Given the description of an element on the screen output the (x, y) to click on. 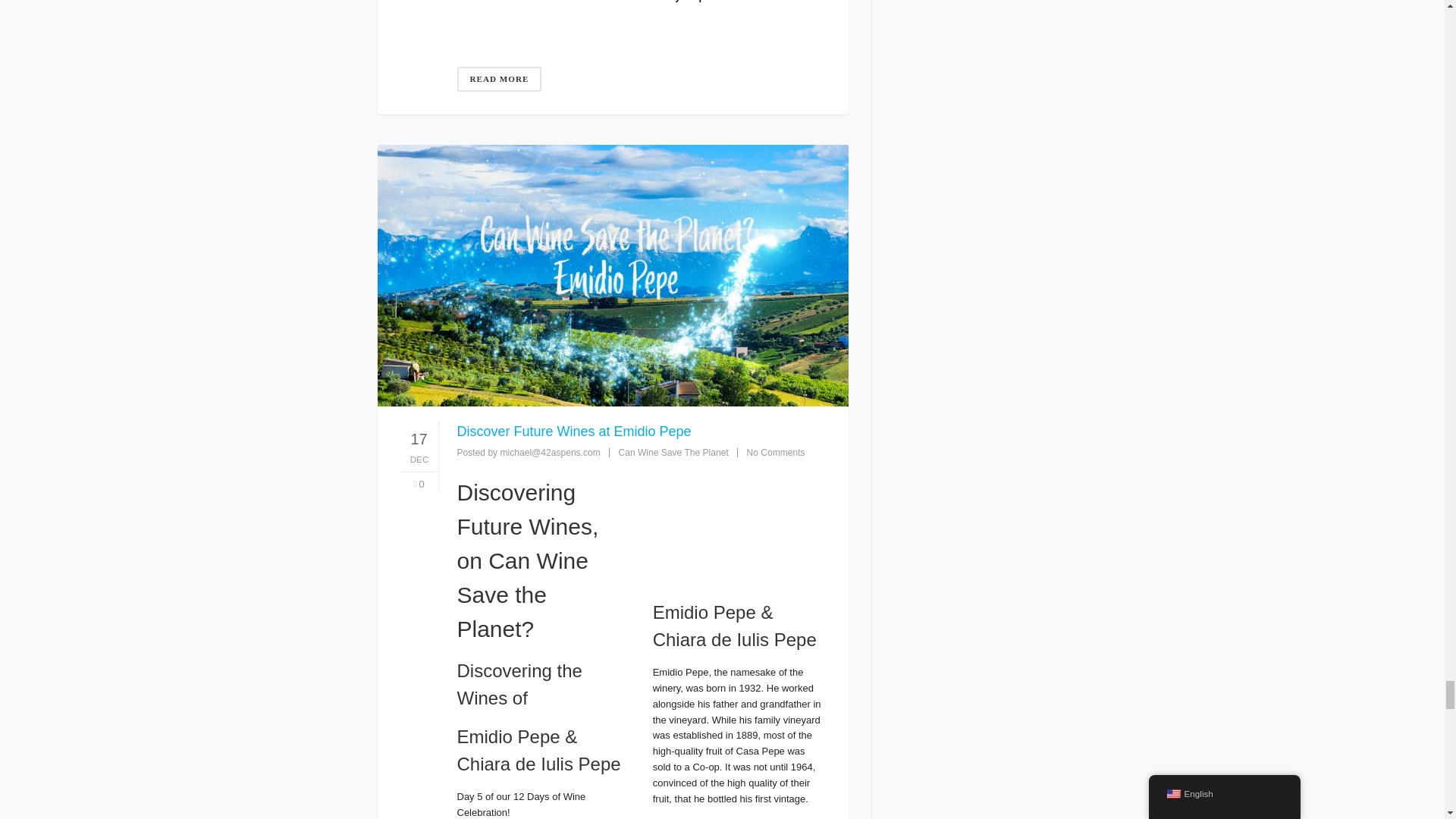
No Comments (775, 452)
